Given the description of an element on the screen output the (x, y) to click on. 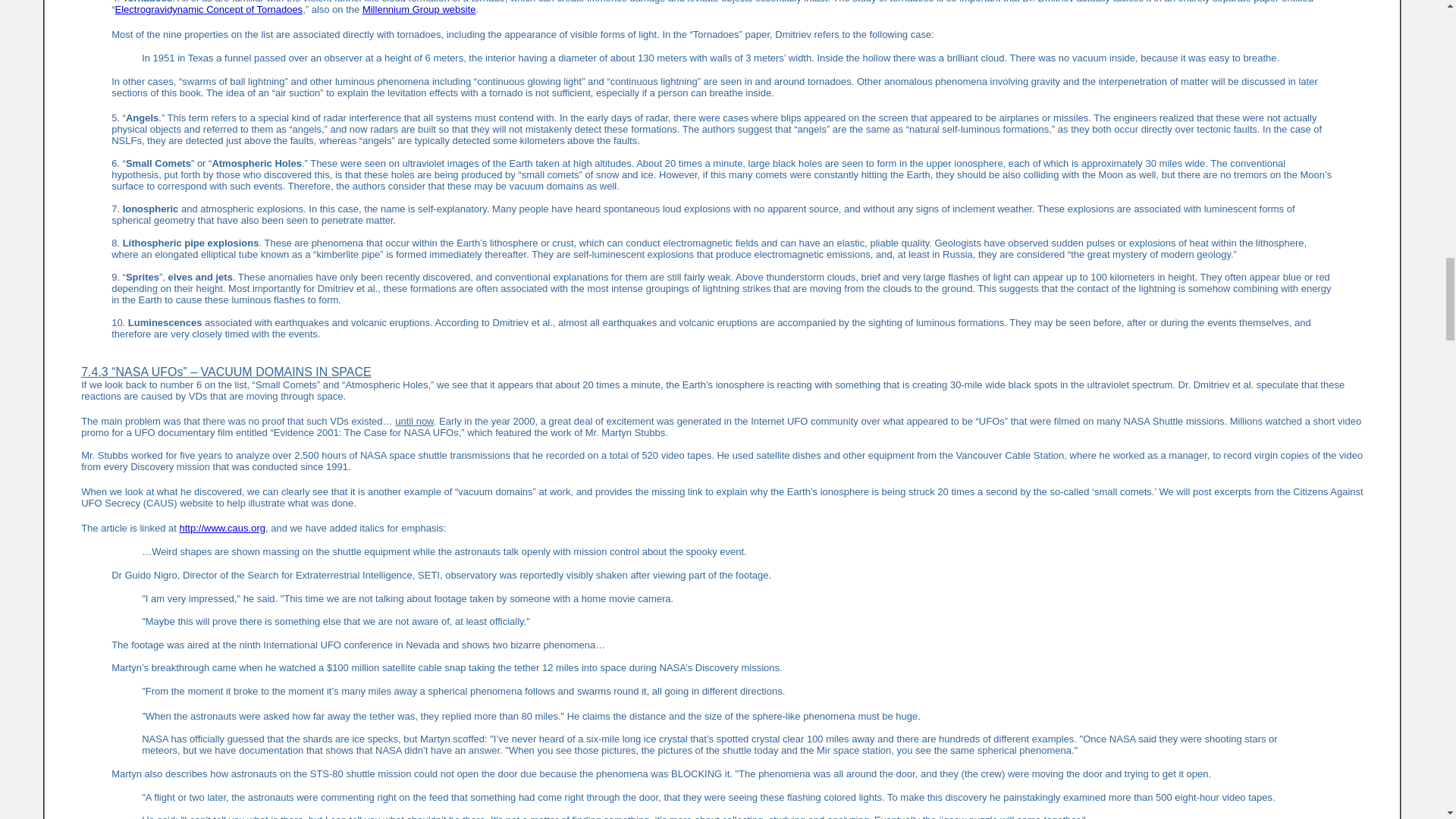
Electrogravidynamic Concept of Tornadoes (208, 9)
Millennium Group website (419, 9)
